Given the description of an element on the screen output the (x, y) to click on. 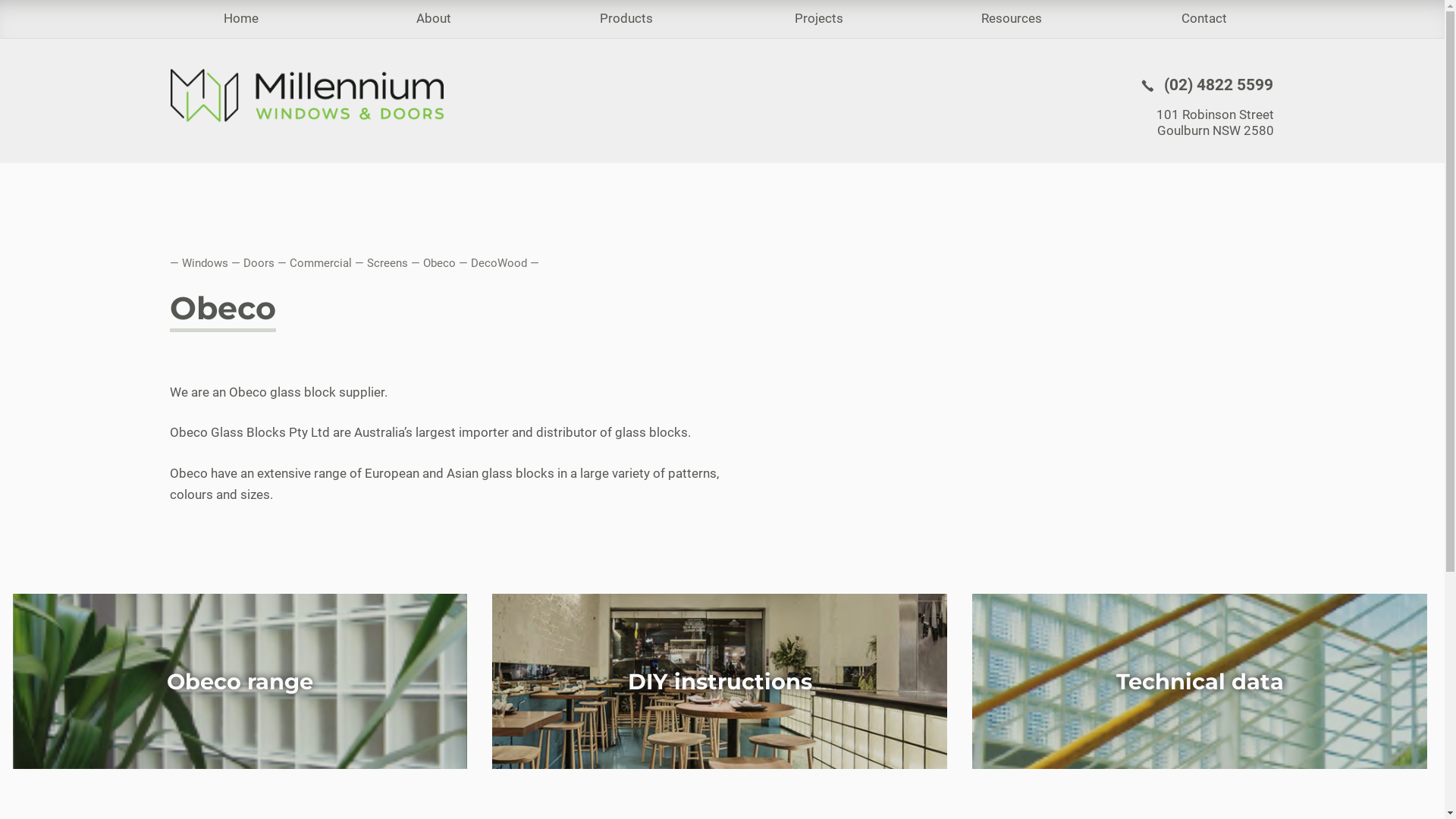
DecoWood Element type: text (498, 262)
Doors Element type: text (257, 262)
Screens Element type: text (387, 262)
Commercial Element type: text (320, 262)
Windows Element type: text (205, 262)
Obeco Element type: text (439, 262)
Projects Element type: text (817, 18)
(02) 4822 5599 Element type: text (1205, 85)
Home Element type: text (240, 18)
Resources Element type: text (1010, 18)
Products Element type: text (625, 18)
About Element type: text (432, 18)
Contact Element type: text (1203, 18)
